Given the description of an element on the screen output the (x, y) to click on. 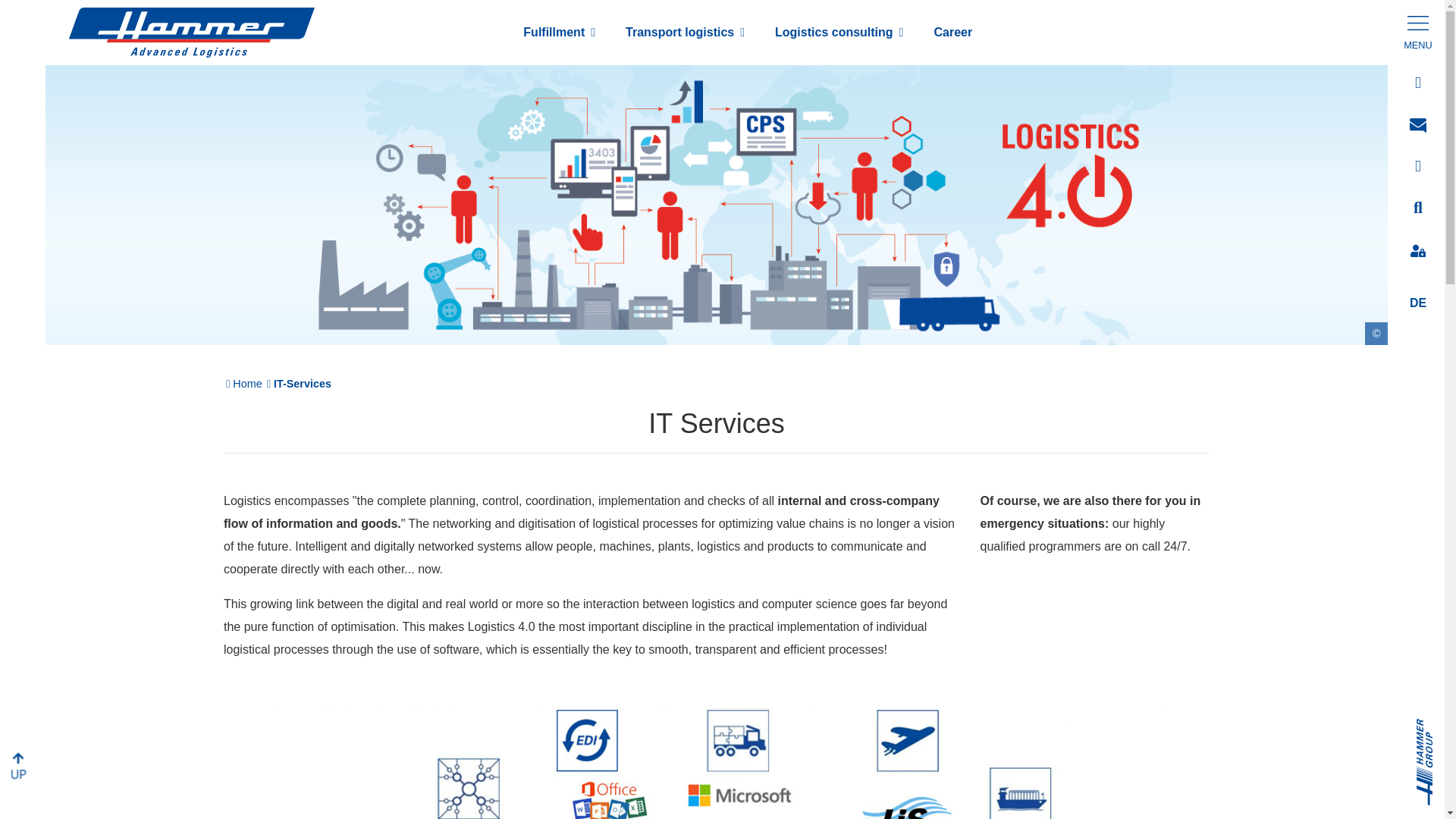
Logistics IT-Services (717, 764)
Career (952, 31)
Logistics consulting (839, 31)
DE (1417, 303)
IT-Services (303, 383)
Transport logistics (685, 31)
Hammer Group (1435, 727)
DE (1417, 302)
Fulfillment (559, 31)
Home (247, 383)
